Given the description of an element on the screen output the (x, y) to click on. 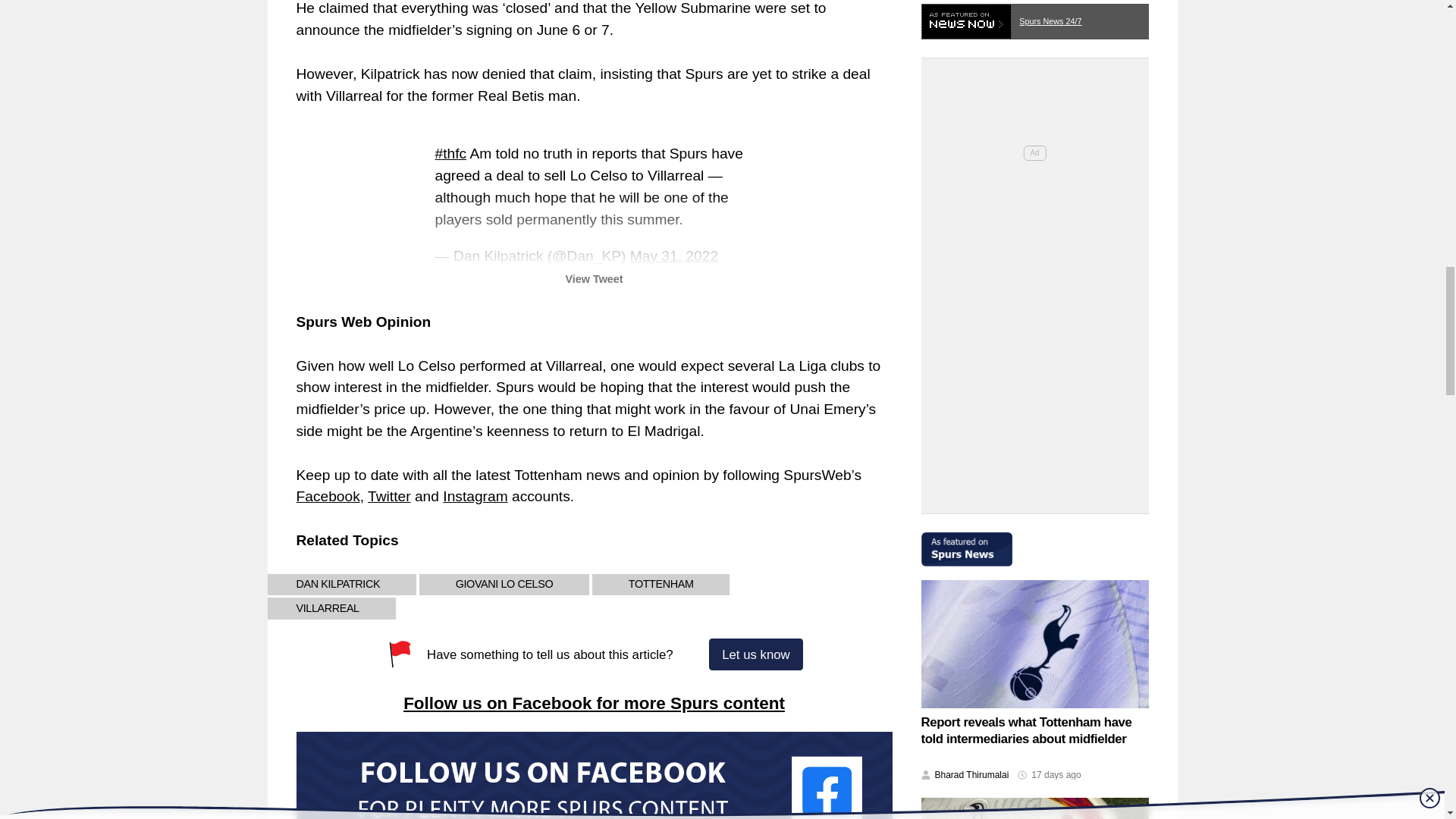
DAN KILPATRICK (337, 585)
Twitter (389, 496)
Instagram (474, 496)
May 31, 2022 (673, 255)
Facebook (327, 496)
